Given the description of an element on the screen output the (x, y) to click on. 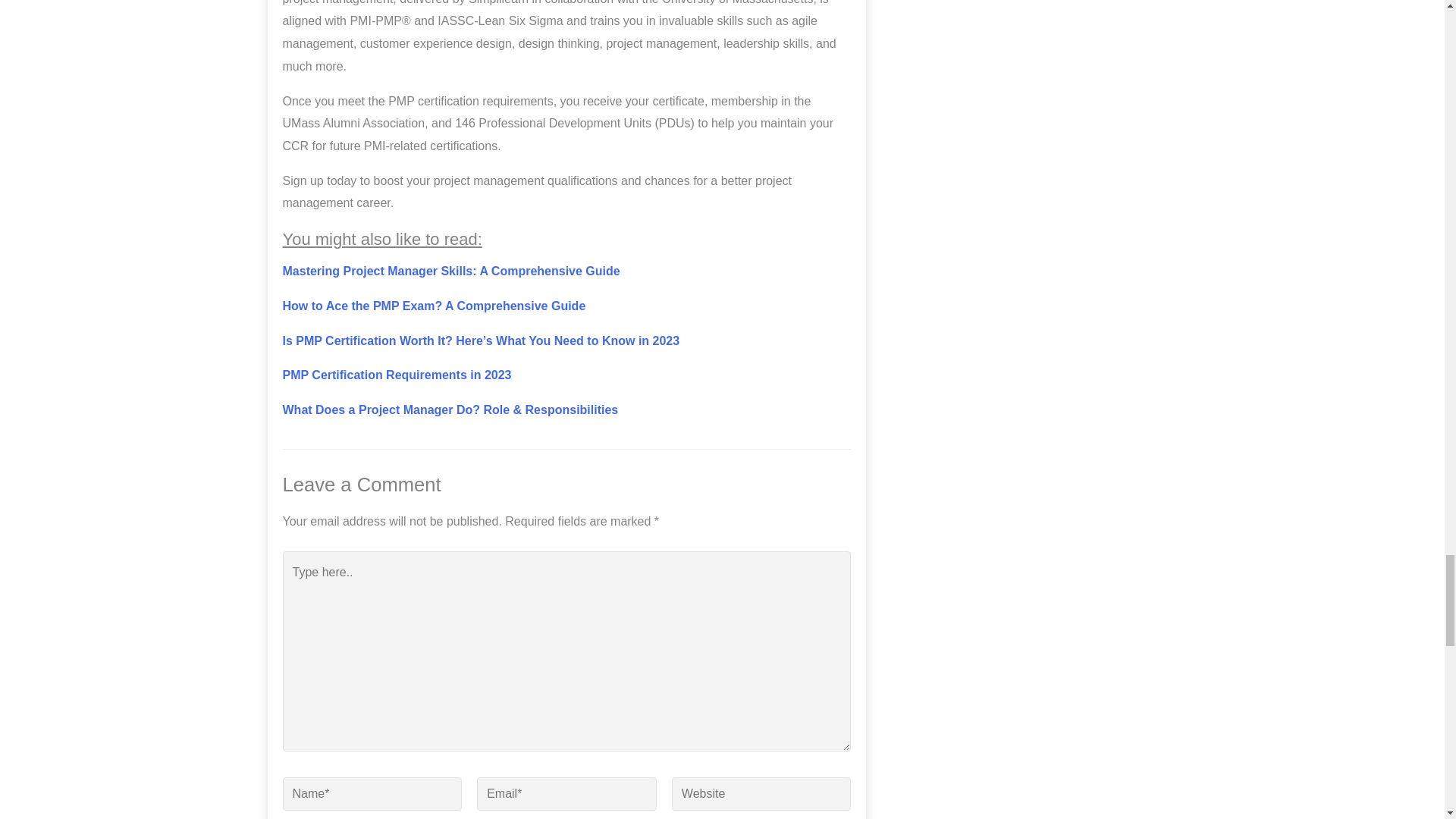
How to Ace the PMP Exam? A Comprehensive Guide (433, 305)
Mastering Project Manager Skills: A Comprehensive Guide (451, 270)
PMP Certification Requirements in 2023 (396, 374)
